Given the description of an element on the screen output the (x, y) to click on. 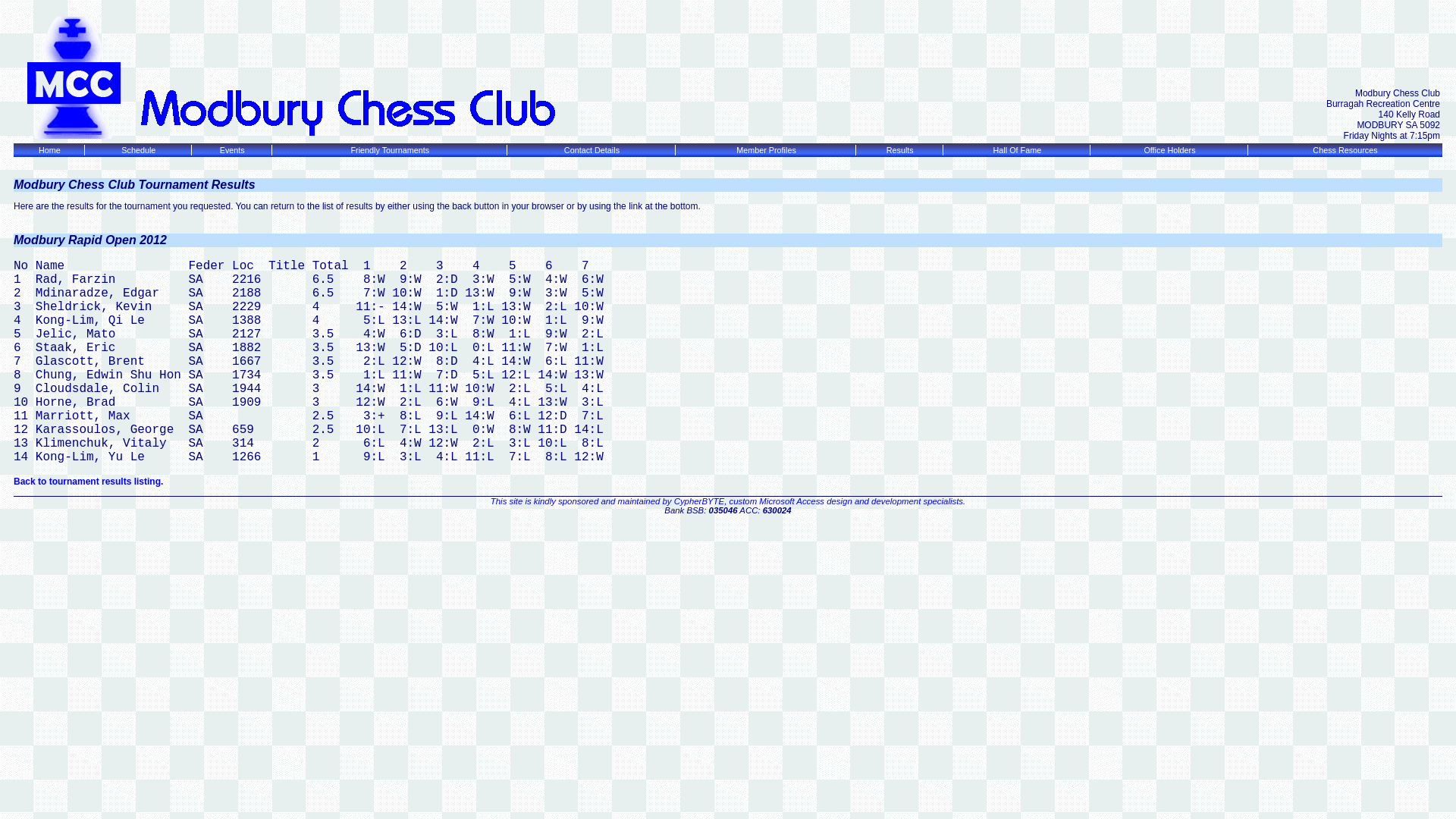
Member Profiles Element type: text (766, 149)
Chess Resources Element type: text (1344, 149)
Hall Of Fame Element type: text (1017, 149)
This site is kindly sponsored and maintained by CypherBYTE, Element type: text (609, 500)
Back to tournament results listing. Element type: text (88, 481)
Office Holders Element type: text (1169, 149)
Advertisement Element type: hover (727, 557)
Results Element type: text (899, 149)
Events Element type: text (231, 149)
Contact Details Element type: text (591, 149)
custom Microsoft Access design and development specialists Element type: text (845, 500)
Home Element type: text (49, 149)
Friendly Tournaments Element type: text (389, 149)
Schedule Element type: text (138, 149)
